Given the description of an element on the screen output the (x, y) to click on. 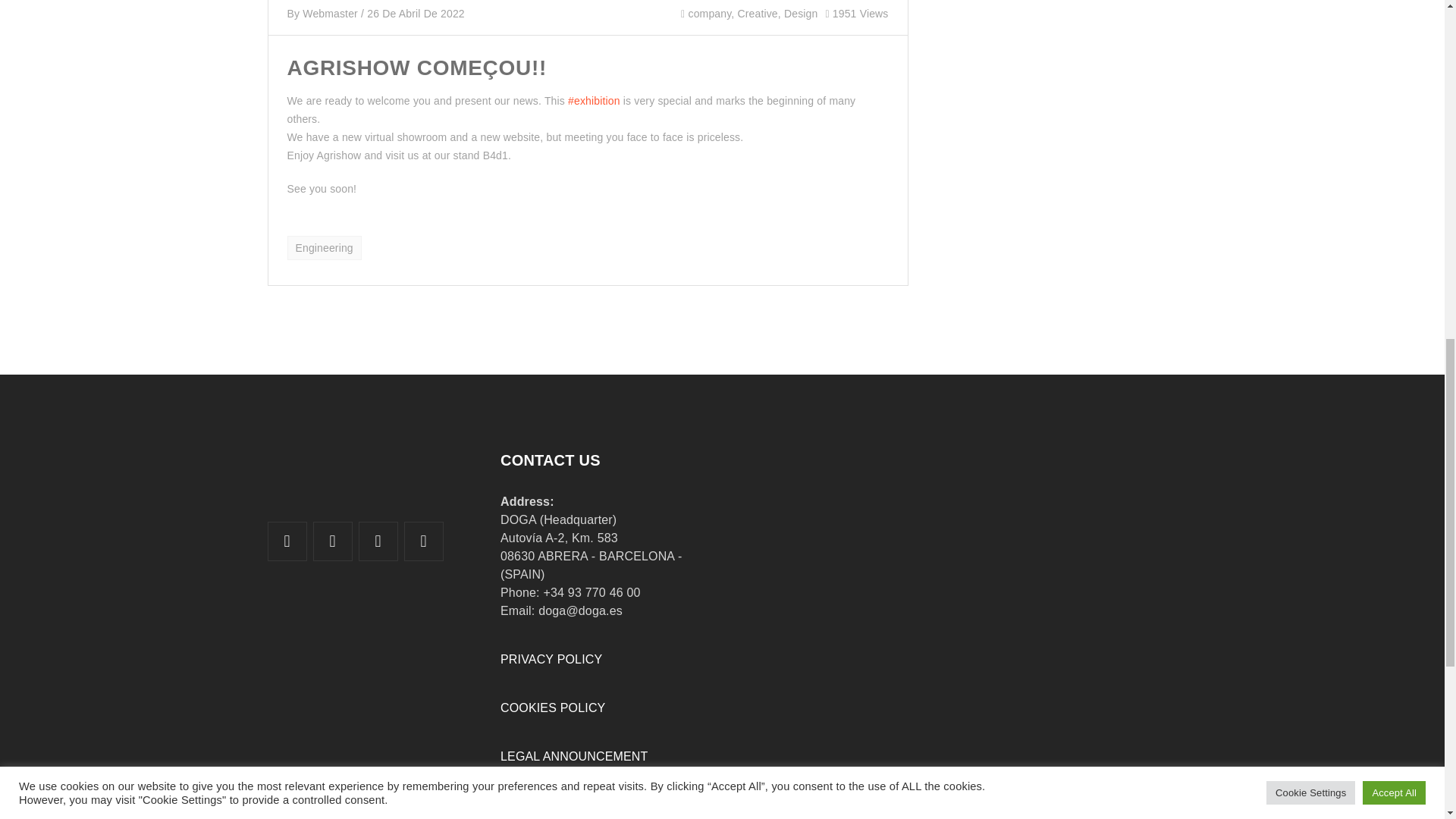
Twitter (286, 541)
YouTube (378, 541)
Instagram (423, 541)
LinkedIn (333, 541)
